Given the description of an element on the screen output the (x, y) to click on. 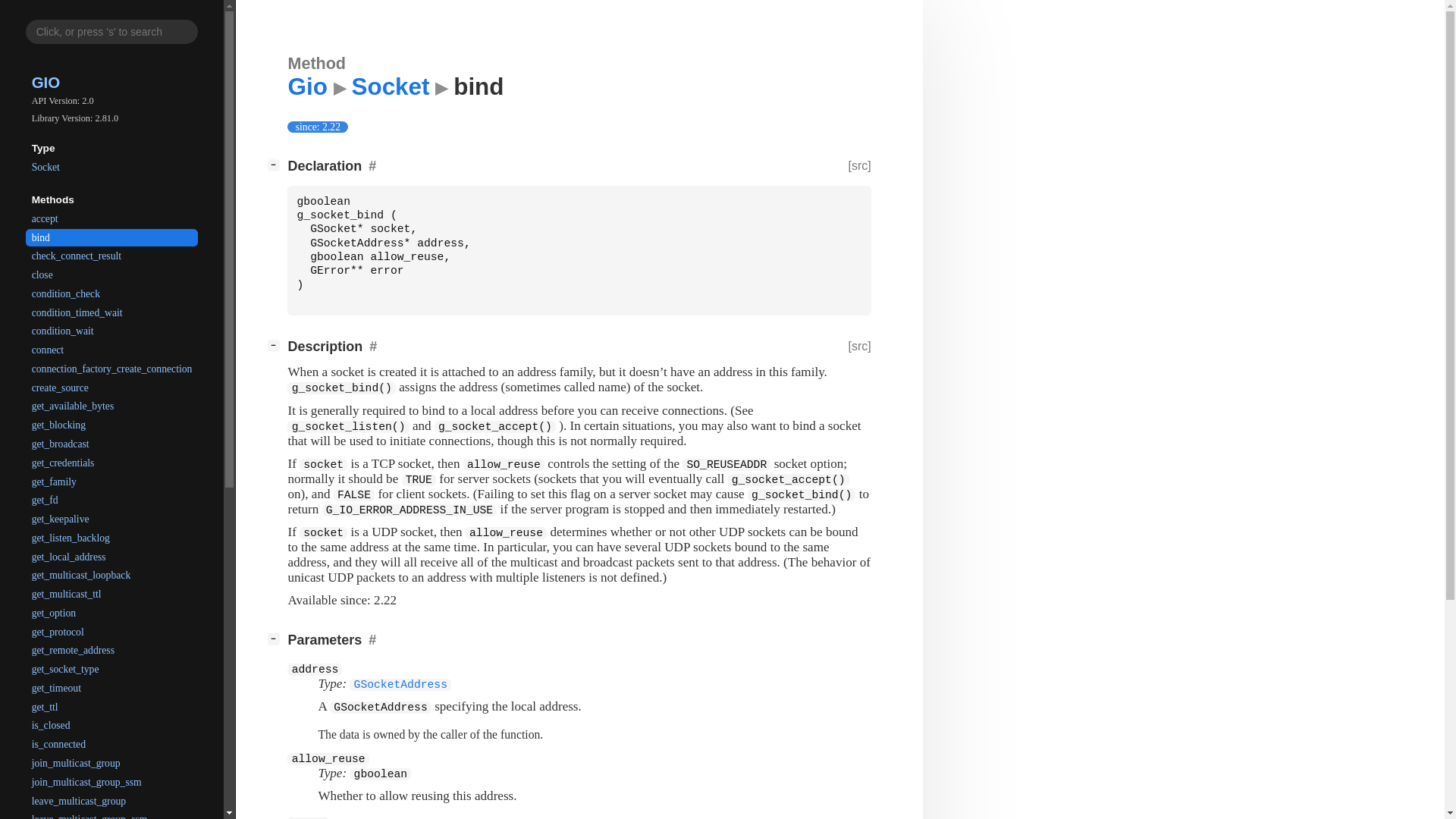
close (112, 274)
bind (112, 237)
connect (112, 350)
go to source location (858, 165)
transfer: none (430, 734)
Socket (112, 166)
GIO (46, 82)
go to source location (858, 345)
accept (112, 218)
